Given the description of an element on the screen output the (x, y) to click on. 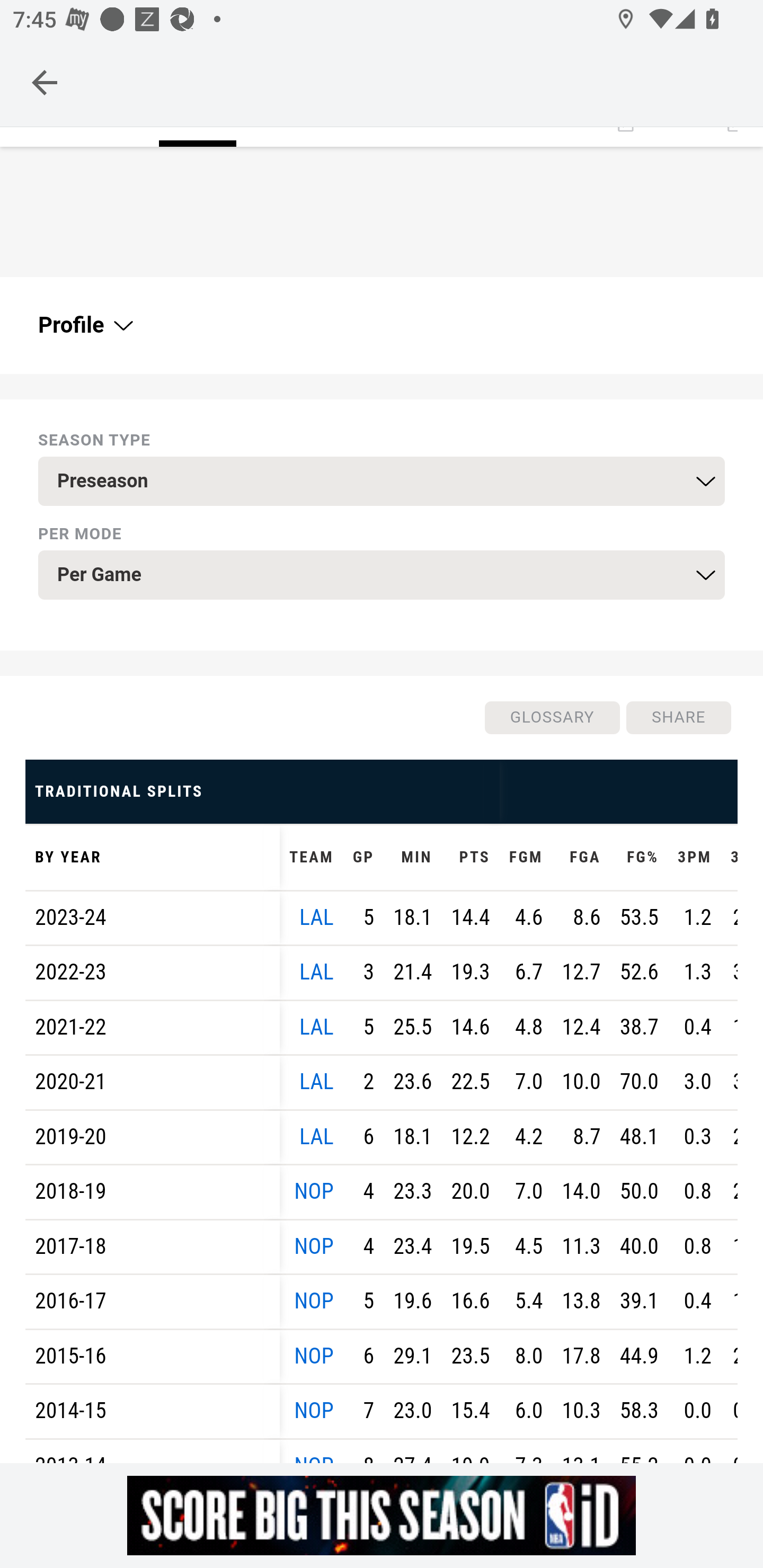
Navigate up (44, 82)
Profile (84, 325)
Preseason (381, 481)
Per Game (381, 575)
GLOSSARY (550, 716)
SHARE (677, 716)
BY YEAR (152, 857)
TEAM (311, 857)
GP (362, 857)
MIN (412, 857)
PTS (470, 857)
FGM (526, 857)
FGA (580, 857)
FG% (638, 857)
3PM (694, 857)
LAL (316, 917)
LAL (316, 972)
LAL (316, 1027)
LAL (316, 1081)
LAL (316, 1137)
NOP (313, 1191)
NOP (313, 1246)
NOP (313, 1301)
NOP (313, 1356)
NOP (313, 1411)
g5nqqygr7owph (381, 1515)
